Given the description of an element on the screen output the (x, y) to click on. 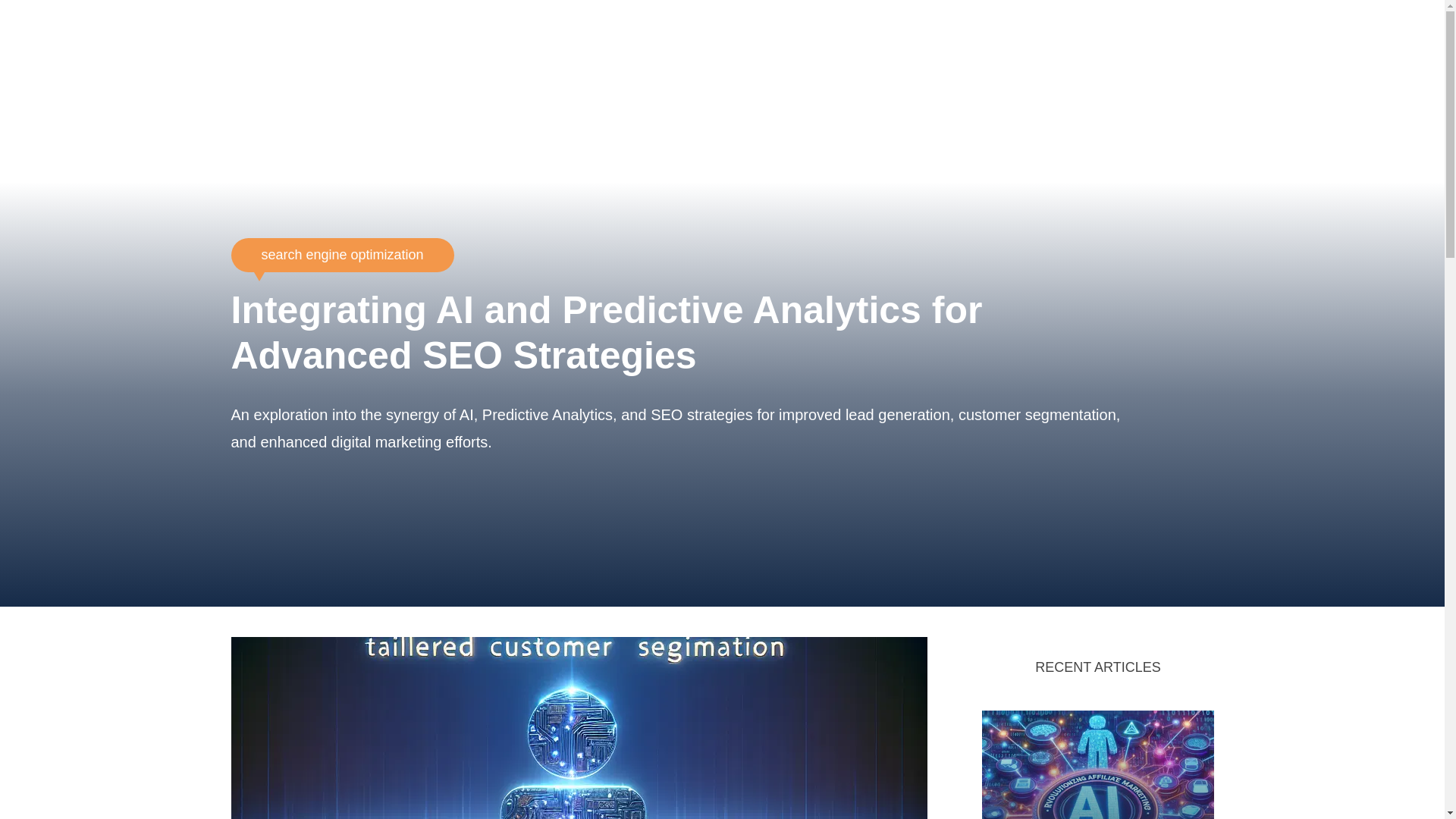
search engine optimization (341, 254)
Digital Marketing (294, 38)
CATEGORIES (1154, 106)
HOME (1062, 106)
